Given the description of an element on the screen output the (x, y) to click on. 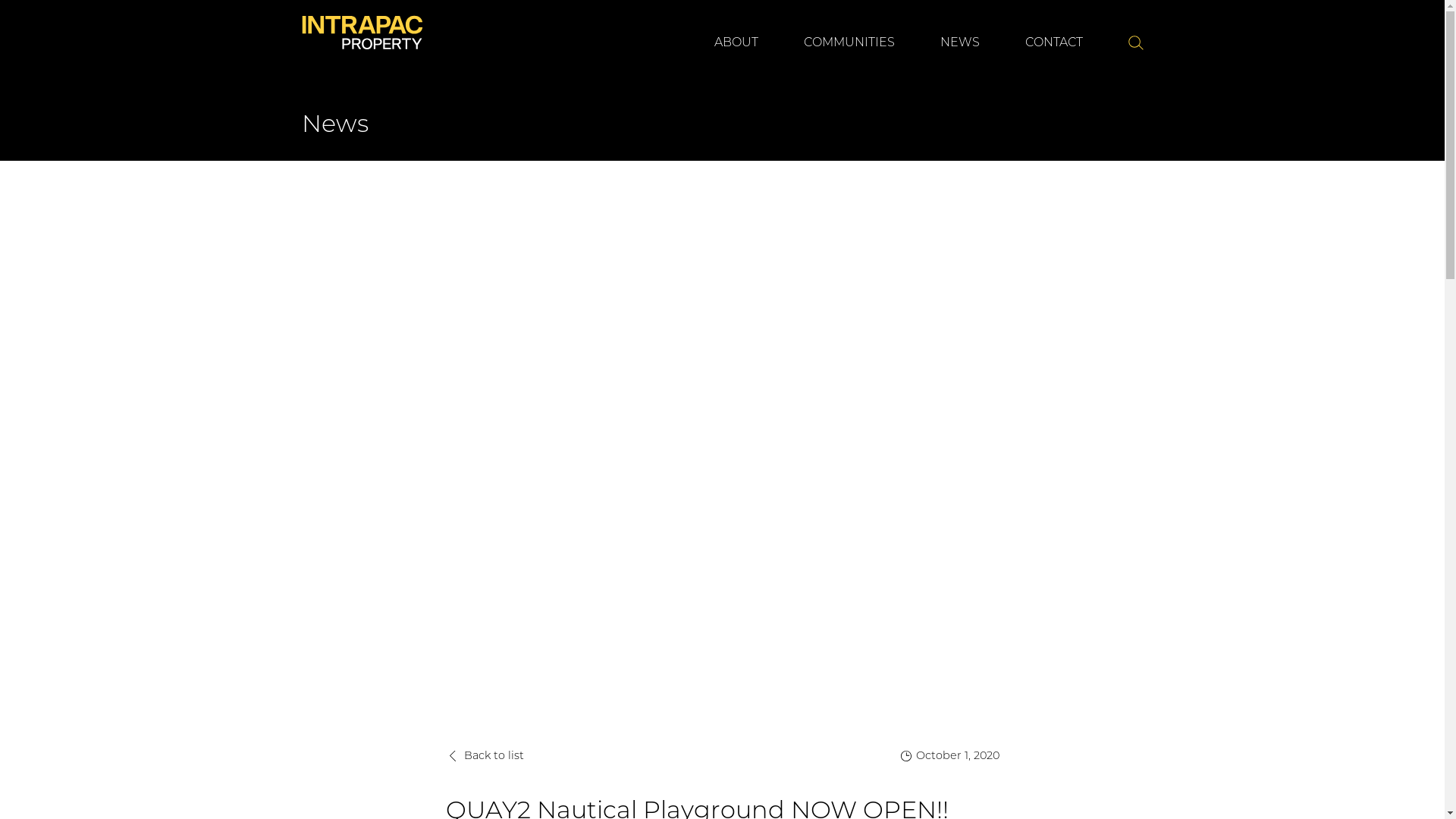
COMMUNITIES Element type: text (848, 38)
ABOUT Element type: text (736, 38)
NEWS Element type: text (959, 38)
SEARCH Element type: text (1135, 42)
CONTACT Element type: text (1053, 38)
Back to list Element type: text (484, 754)
